Given the description of an element on the screen output the (x, y) to click on. 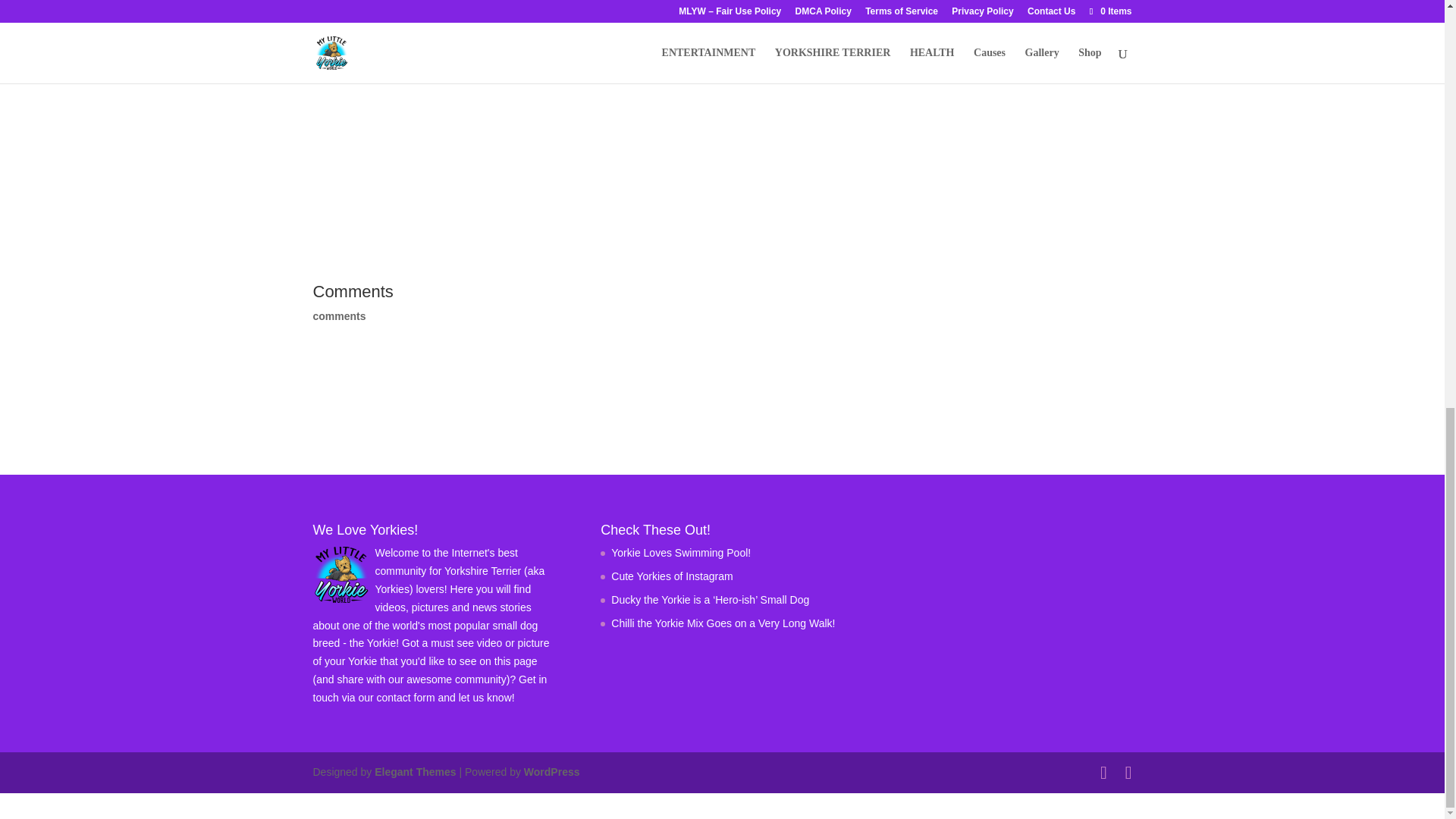
Yorkie Loves Swimming Pool! (681, 552)
Premium WordPress Themes (414, 771)
Chilli the Yorkie Mix Goes on a Very Long Walk! (722, 623)
Cute Yorkies of Instagram (671, 576)
Elegant Themes (414, 771)
WordPress (551, 771)
